Given the description of an element on the screen output the (x, y) to click on. 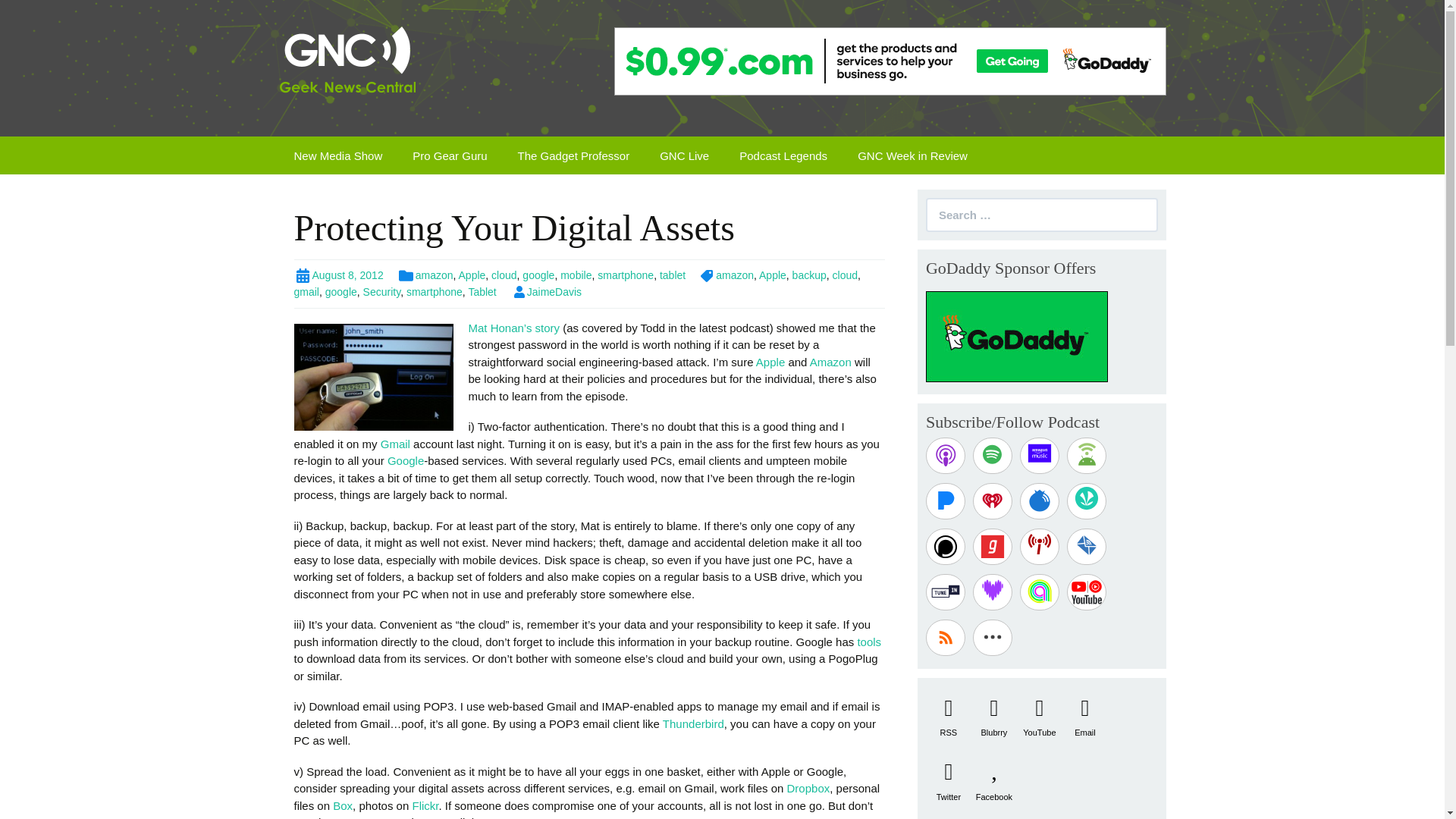
New Media Show (338, 155)
The Gadget Professor (573, 155)
Search for: (1041, 214)
Subscribe on Podchaser (945, 546)
Subscribe on Android (1086, 455)
Podcast Legends (783, 155)
View all posts by JaimeDavis (546, 291)
GNC Live (684, 155)
Apple (772, 275)
